Given the description of an element on the screen output the (x, y) to click on. 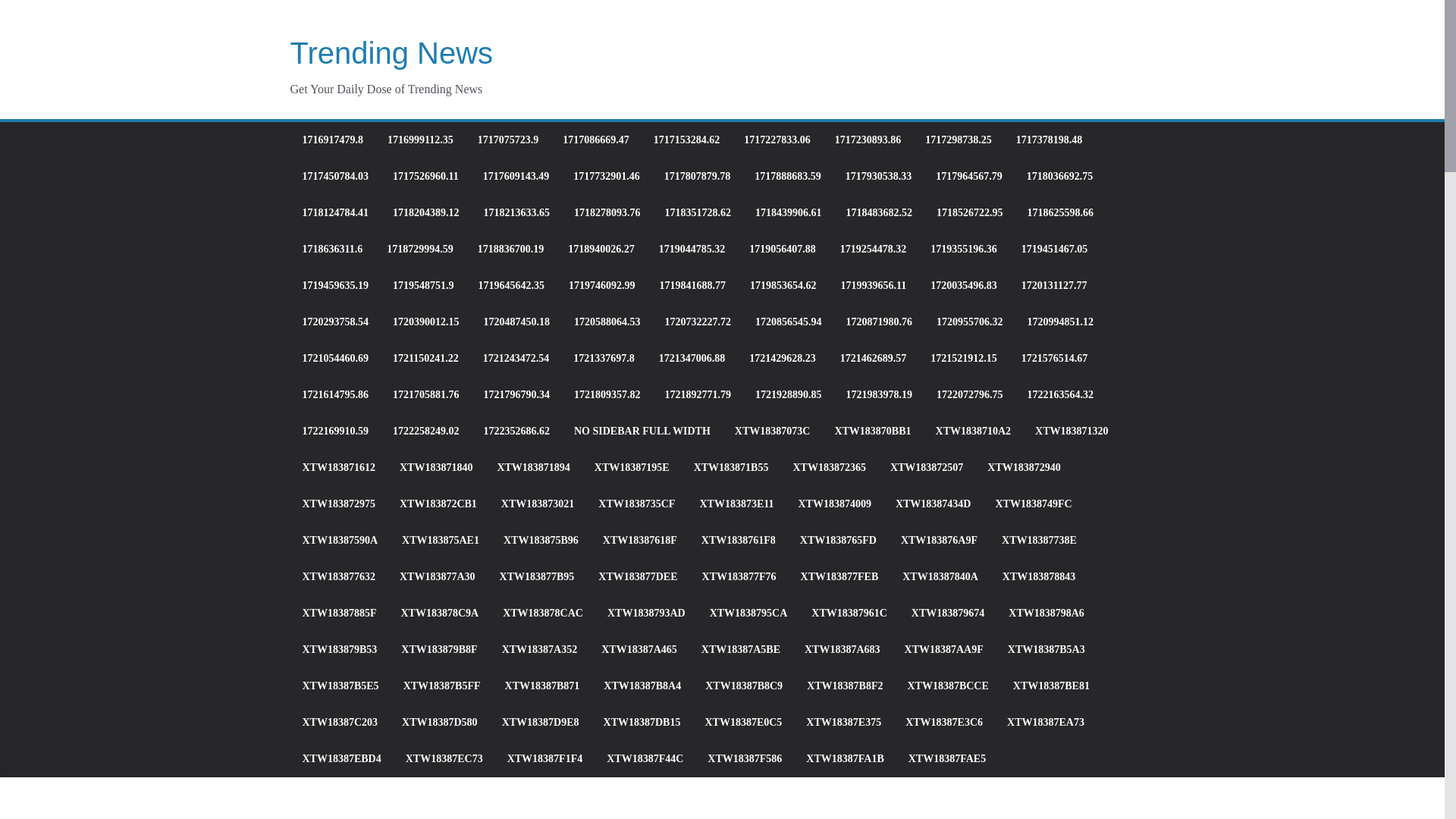
1717227833.06 (777, 139)
1719459635.19 (334, 285)
1717230893.86 (867, 139)
1717378198.48 (1049, 139)
1718351728.62 (696, 212)
1717075723.9 (507, 139)
1717807879.78 (696, 176)
1717450784.03 (334, 176)
1718439906.61 (788, 212)
1717609143.49 (516, 176)
